Given the description of an element on the screen output the (x, y) to click on. 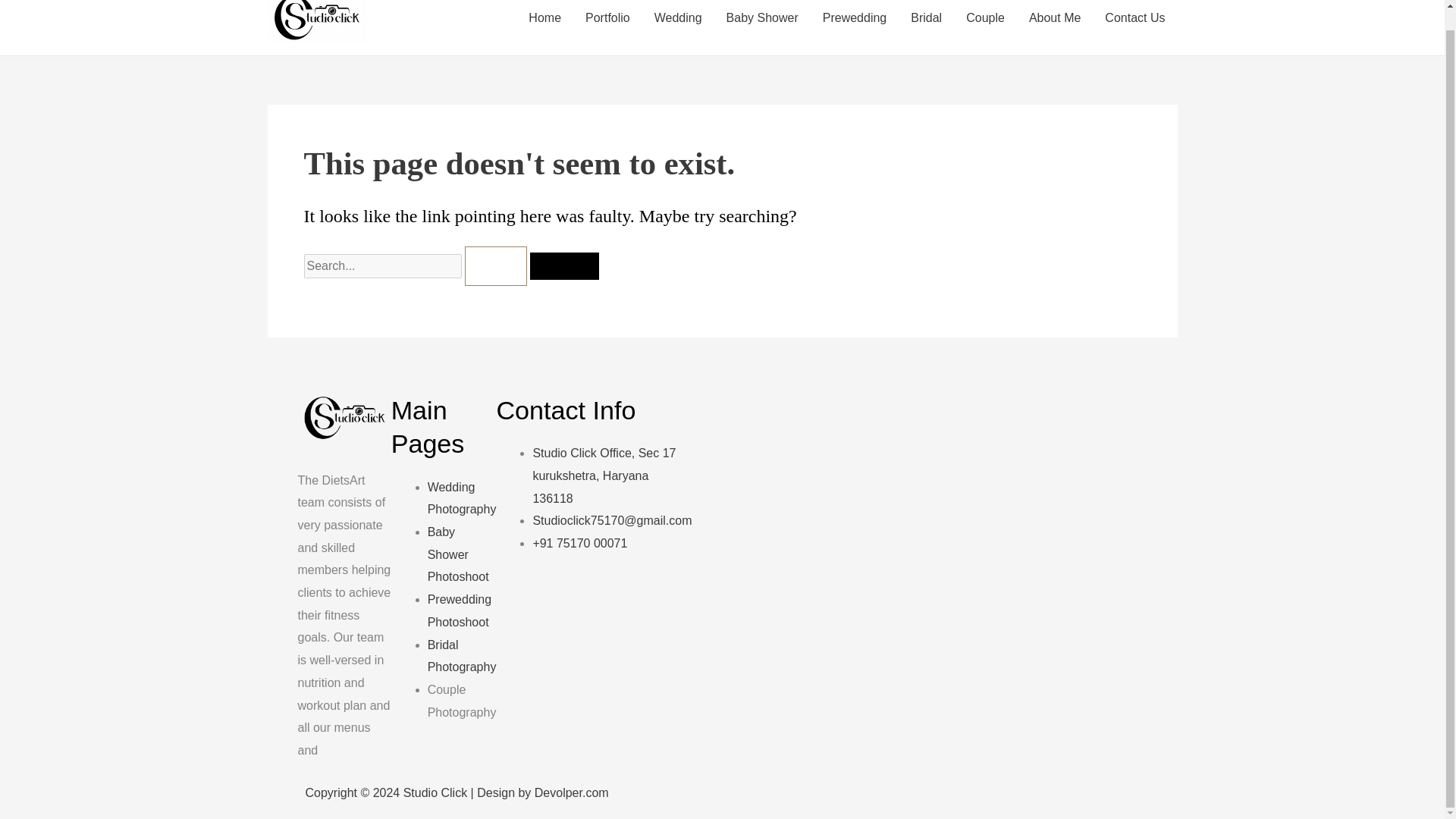
Baby Shower (762, 24)
Baby Shower Photoshoot (458, 554)
Search (563, 266)
Search (563, 266)
Wedding (678, 24)
Prewedding (854, 24)
Home (544, 24)
Bridal (925, 24)
Wedding Photography (462, 498)
Prewedding Photoshoot (460, 610)
